Given the description of an element on the screen output the (x, y) to click on. 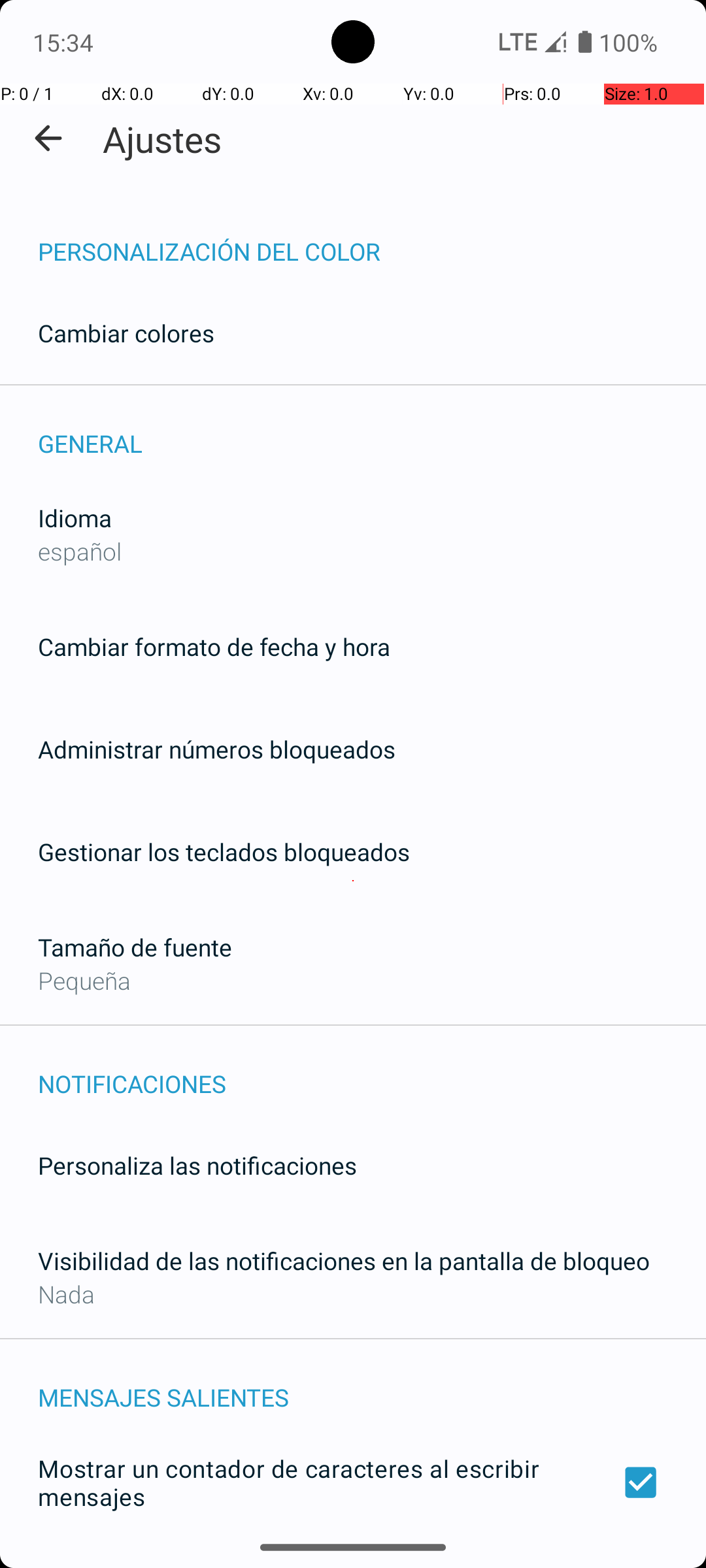
NOTIFICACIONES Element type: android.widget.TextView (371, 1069)
MENSAJES SALIENTES Element type: android.widget.TextView (371, 1383)
Cambiar formato de fecha y hora Element type: android.widget.TextView (213, 646)
Administrar números bloqueados Element type: android.widget.TextView (216, 748)
Gestionar los teclados bloqueados Element type: android.widget.TextView (223, 851)
Tamaño de fuente Element type: android.widget.TextView (134, 946)
Pequeña Element type: android.widget.TextView (83, 979)
Visibilidad de las notificaciones en la pantalla de bloqueo Element type: android.widget.TextView (343, 1260)
Nada Element type: android.widget.TextView (65, 1293)
Mostrar un contador de caracteres al escribir mensajes Element type: android.widget.CheckBox (352, 1482)
Elimina los acentos y signos diacríticos al enviar mensajes Element type: android.widget.CheckBox (352, 1559)
